Given the description of an element on the screen output the (x, y) to click on. 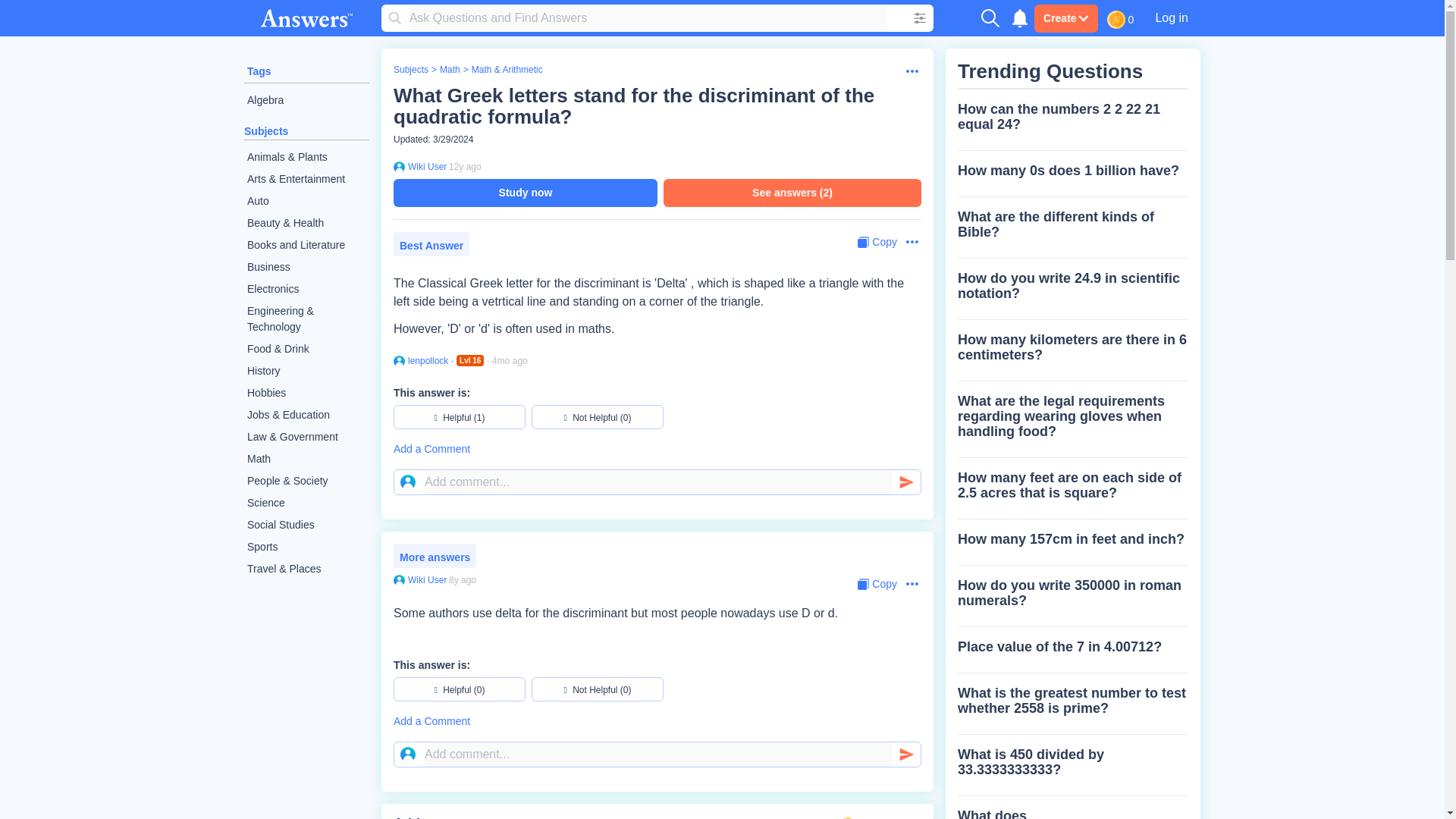
History (306, 371)
2015-12-17 15:33:04 (462, 579)
Books and Literature (306, 245)
Electronics (306, 289)
Math (306, 458)
Wiki User (425, 166)
Study now (525, 193)
Sports (306, 546)
Log in (1170, 17)
